Given the description of an element on the screen output the (x, y) to click on. 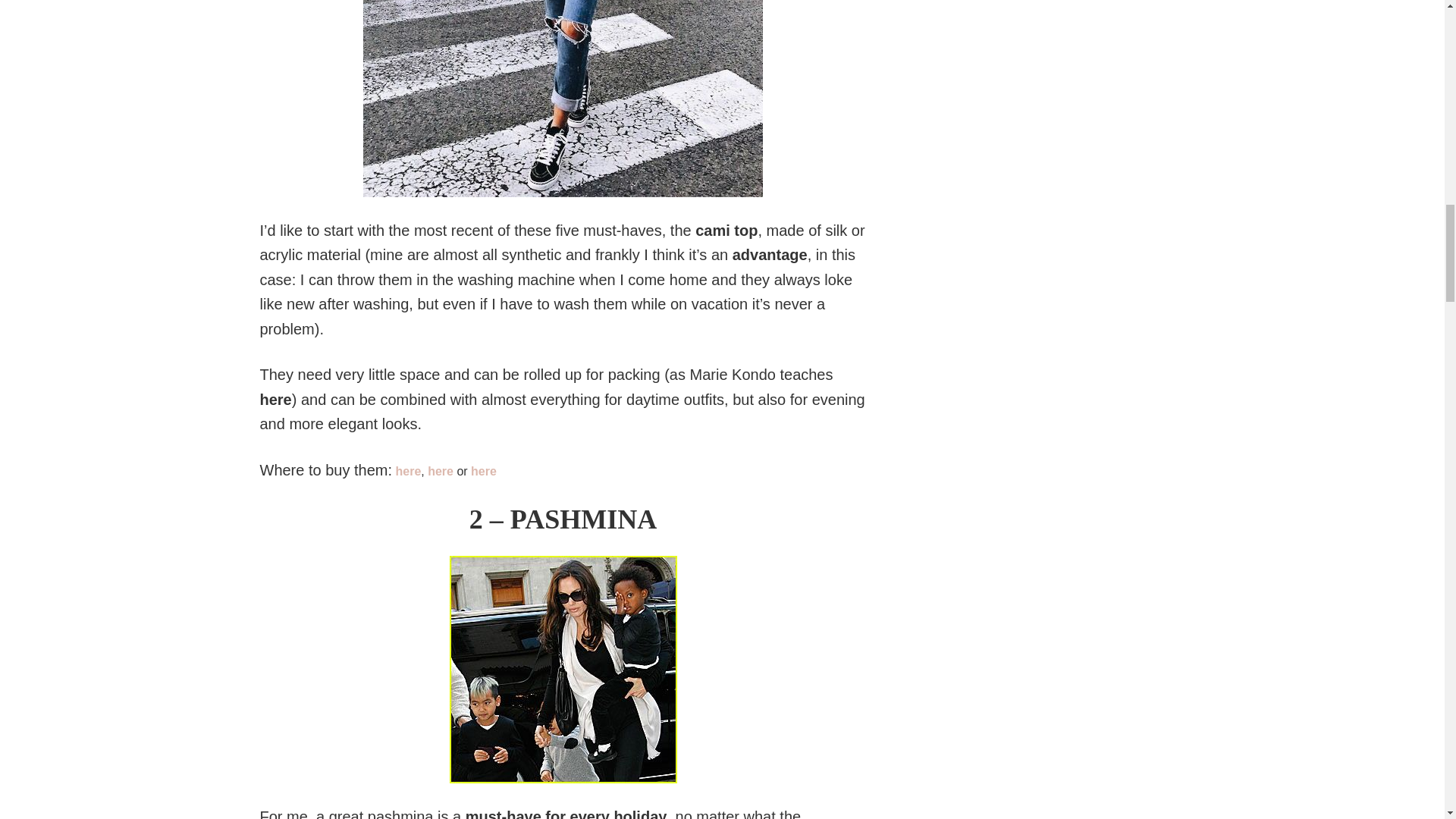
here  (442, 471)
here (407, 471)
here (483, 471)
